Given the description of an element on the screen output the (x, y) to click on. 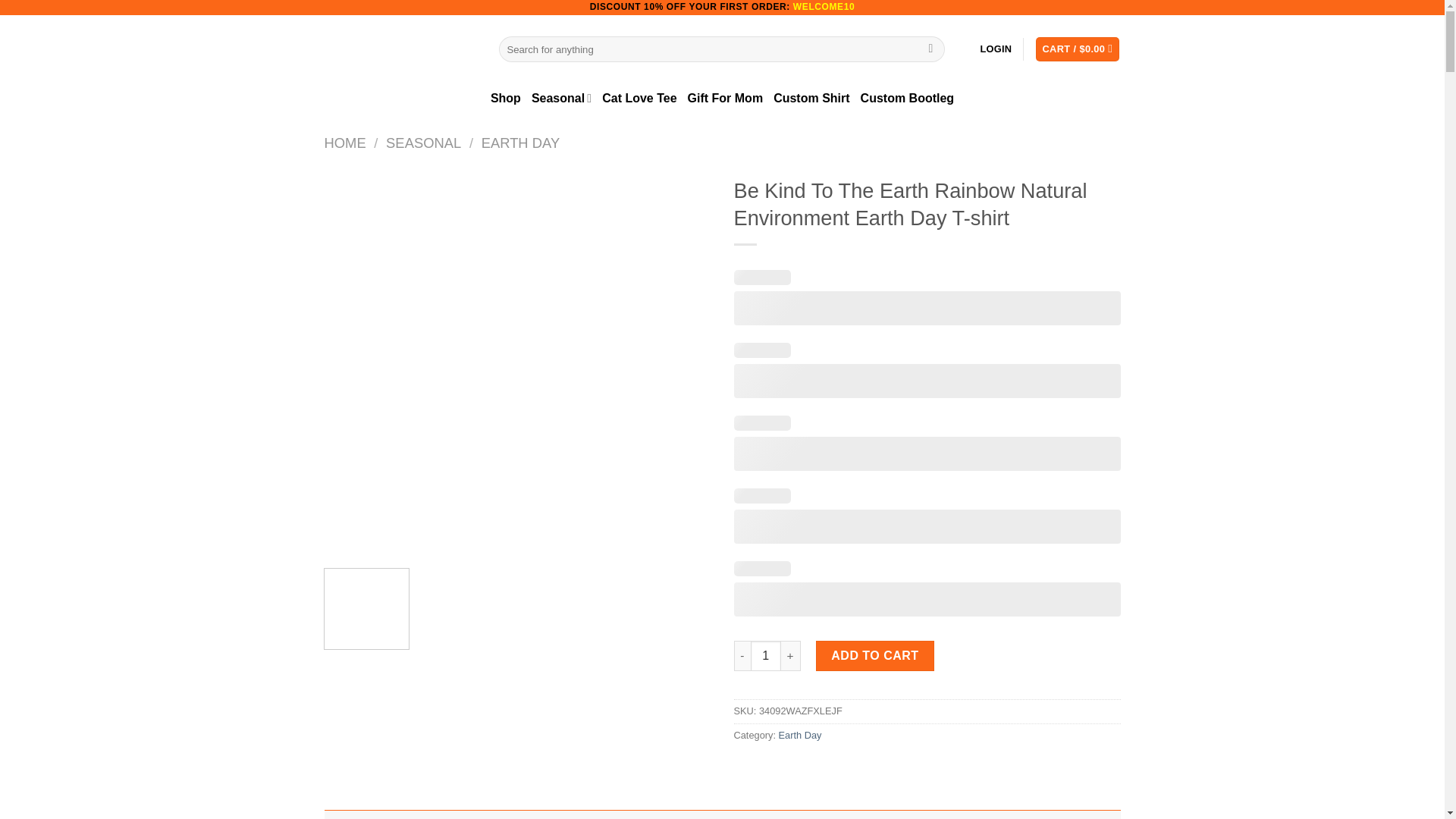
Custom Shirt (810, 98)
Gift For Mom (724, 98)
1 (765, 655)
Custom Bootleg (907, 98)
LOGIN (995, 49)
Seasonal (561, 98)
Search (930, 49)
Cart (1077, 49)
EARTH DAY (520, 142)
TrendingTeesToday (400, 49)
